Given the description of an element on the screen output the (x, y) to click on. 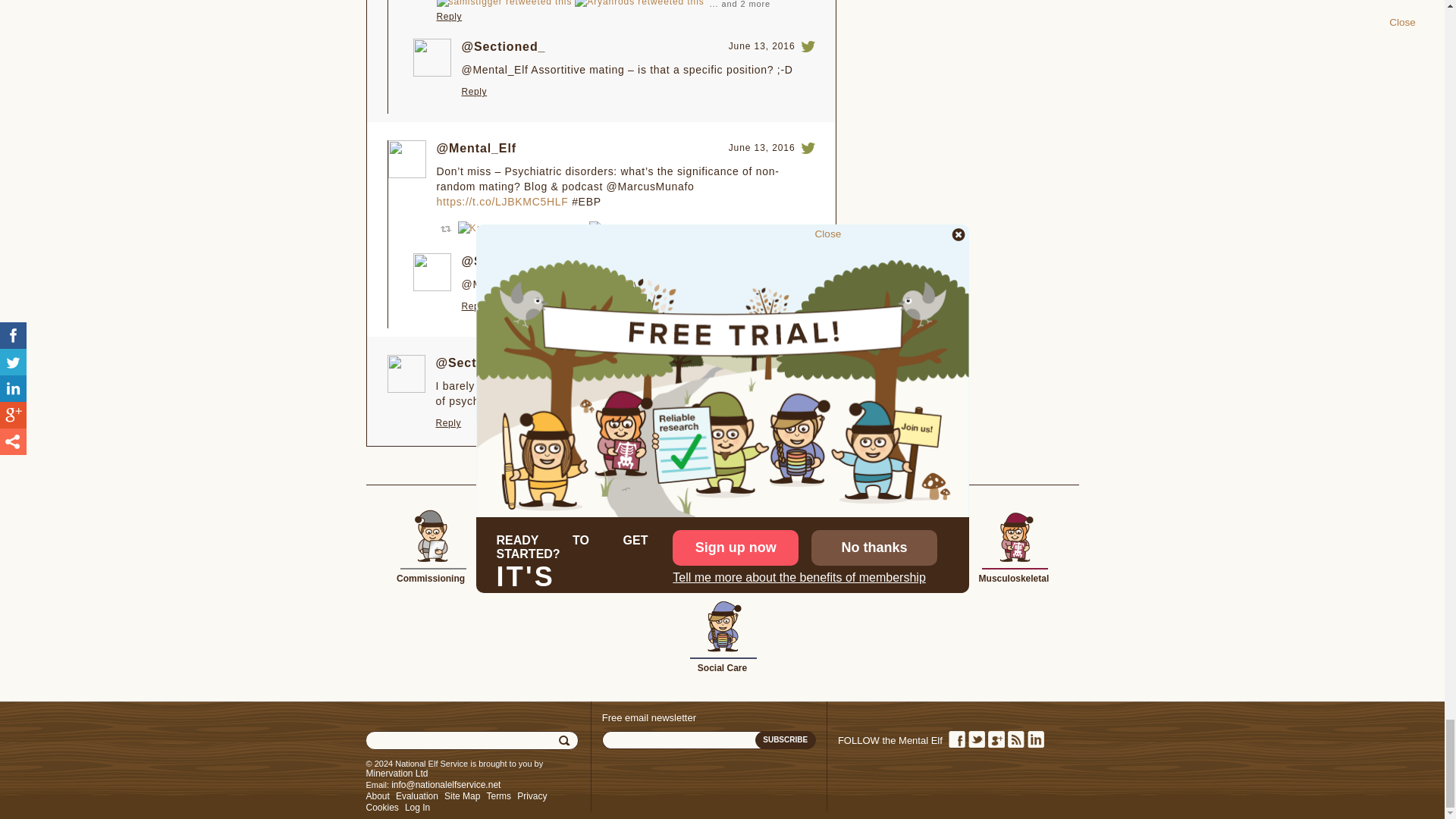
Search (565, 741)
Subscribe (785, 740)
